Given the description of an element on the screen output the (x, y) to click on. 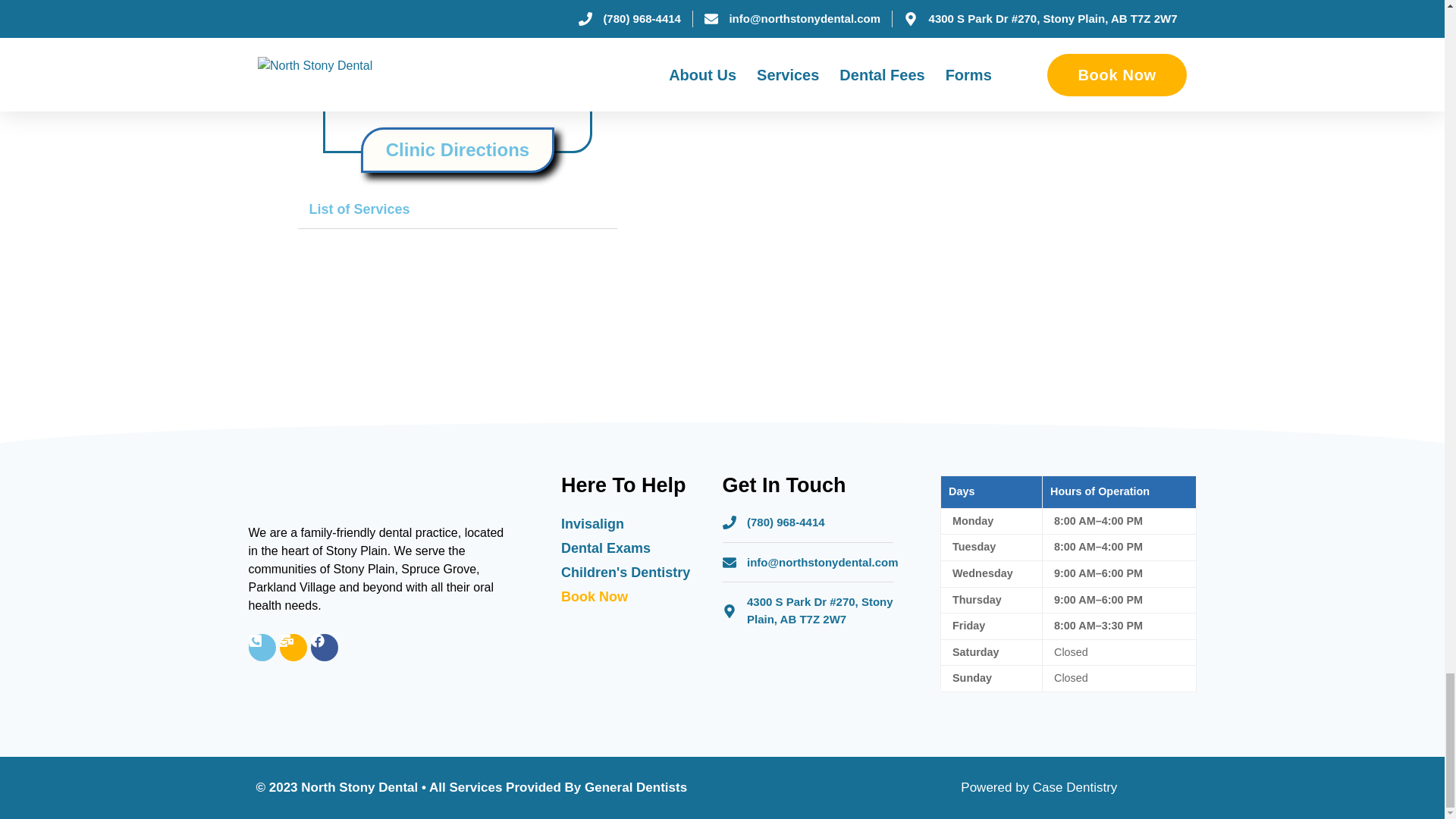
North Stony Dental, Dentist in Stony Plain 6 (745, 123)
North Stony Dental, Dentist in Stony Plain 10 (1002, 60)
North Stony Dental (456, 75)
